Given the description of an element on the screen output the (x, y) to click on. 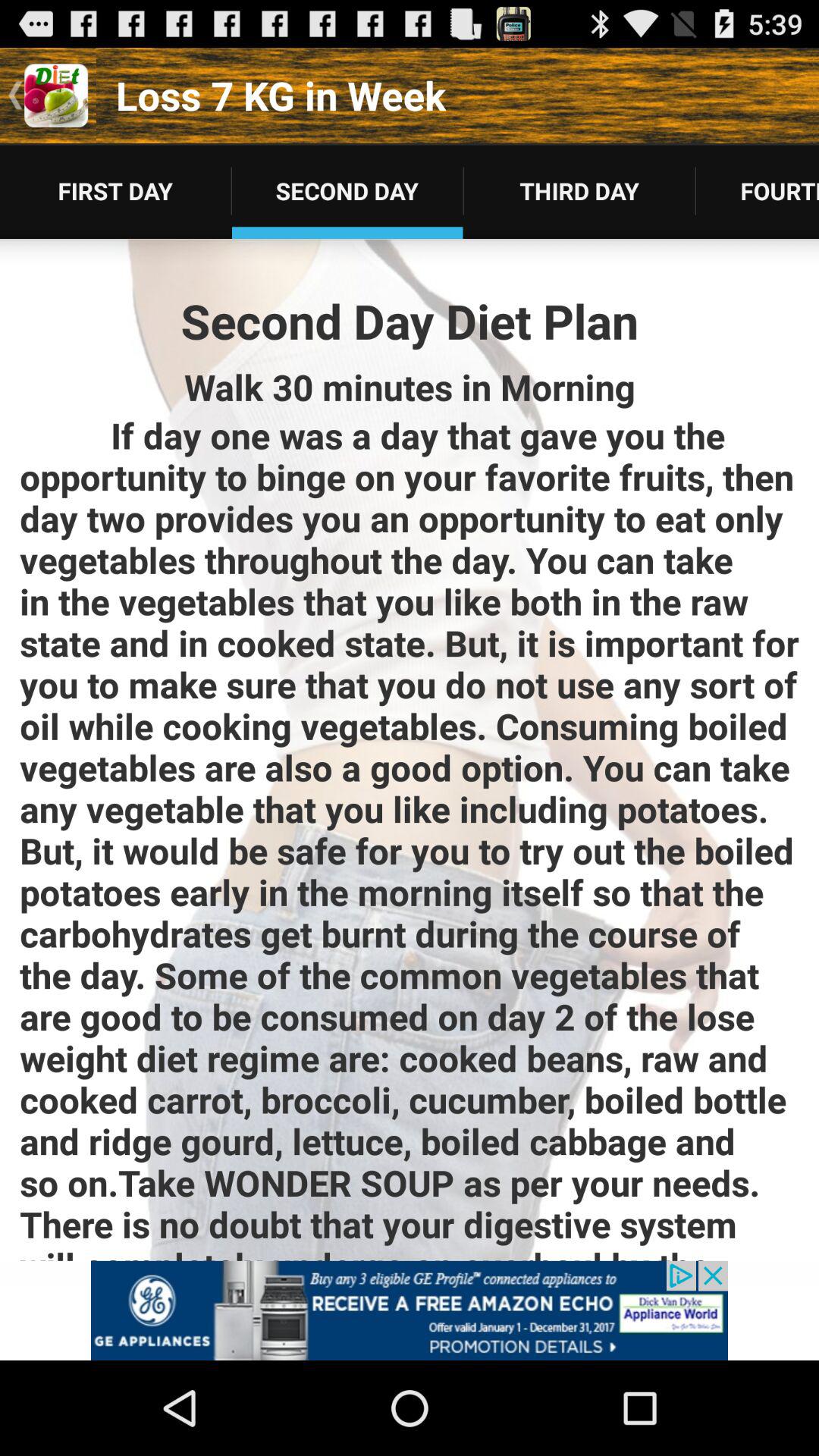
go to advertisement (409, 1310)
